Given the description of an element on the screen output the (x, y) to click on. 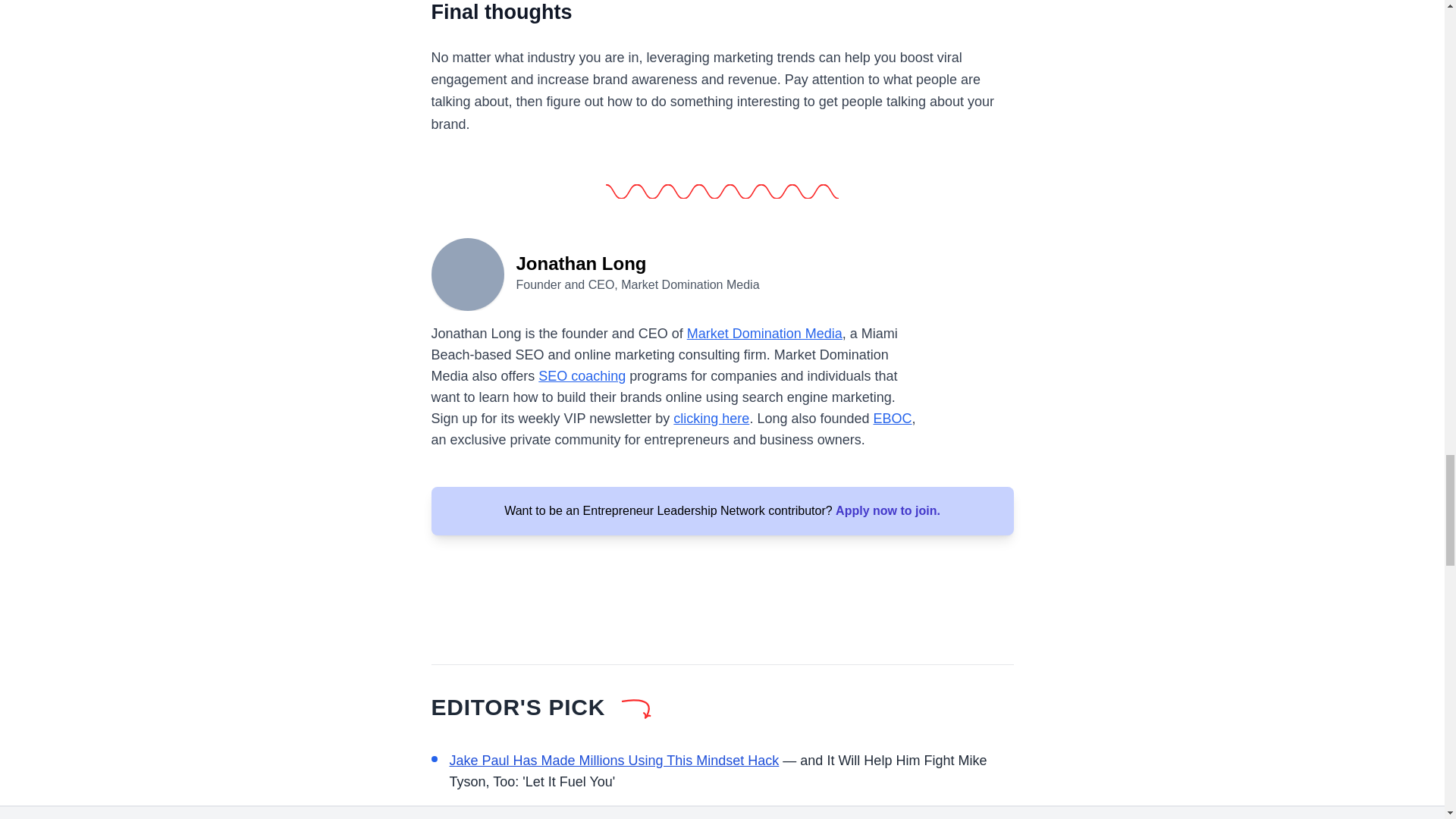
Jonathan Long (466, 273)
